Given the description of an element on the screen output the (x, y) to click on. 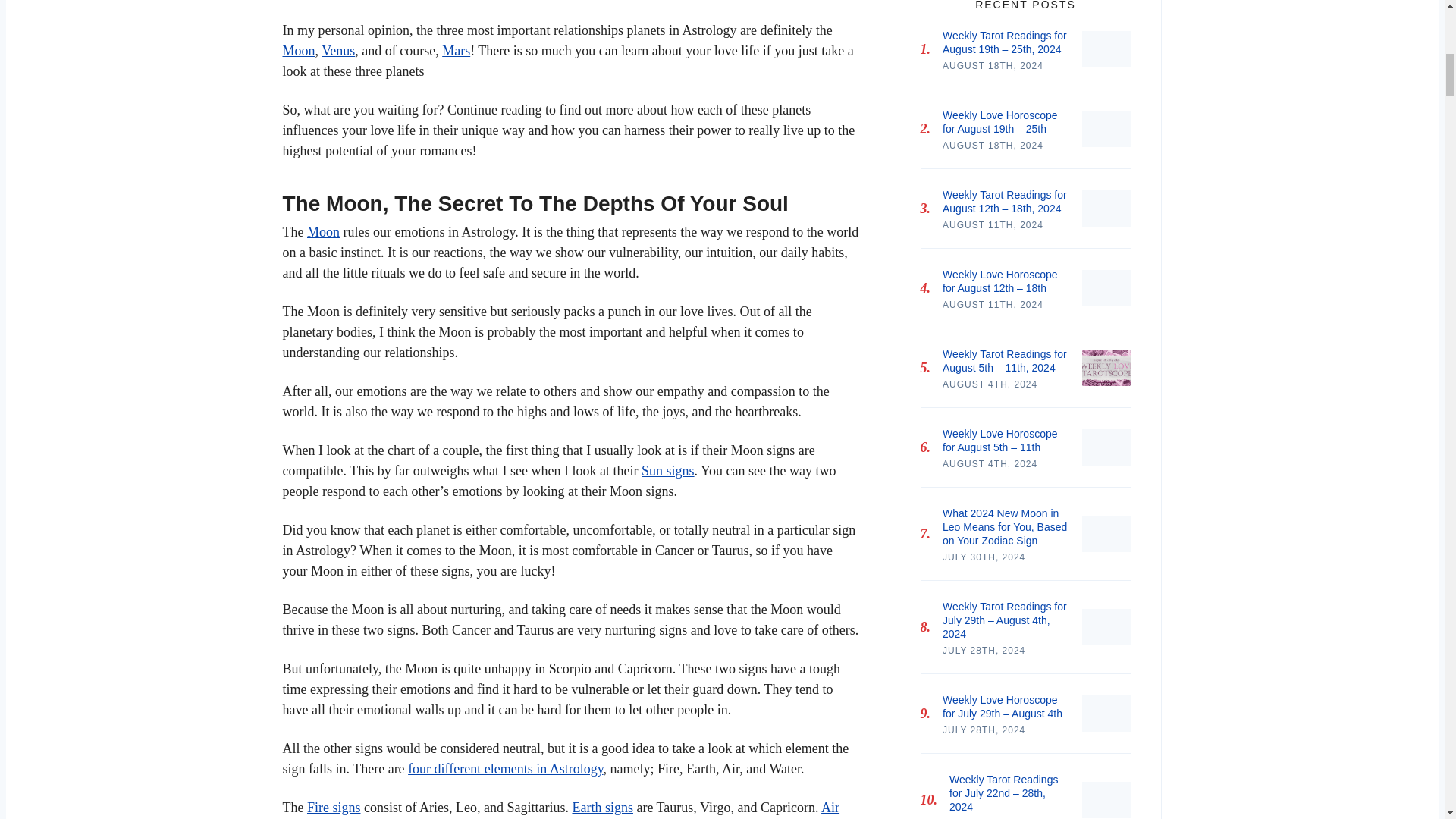
Sun signs (668, 470)
four different elements in Astrology (504, 768)
Venus (338, 50)
Earth signs (602, 807)
Mars (456, 50)
Moon (323, 231)
Moon (298, 50)
Fire signs (334, 807)
Air signs (561, 809)
